Given the description of an element on the screen output the (x, y) to click on. 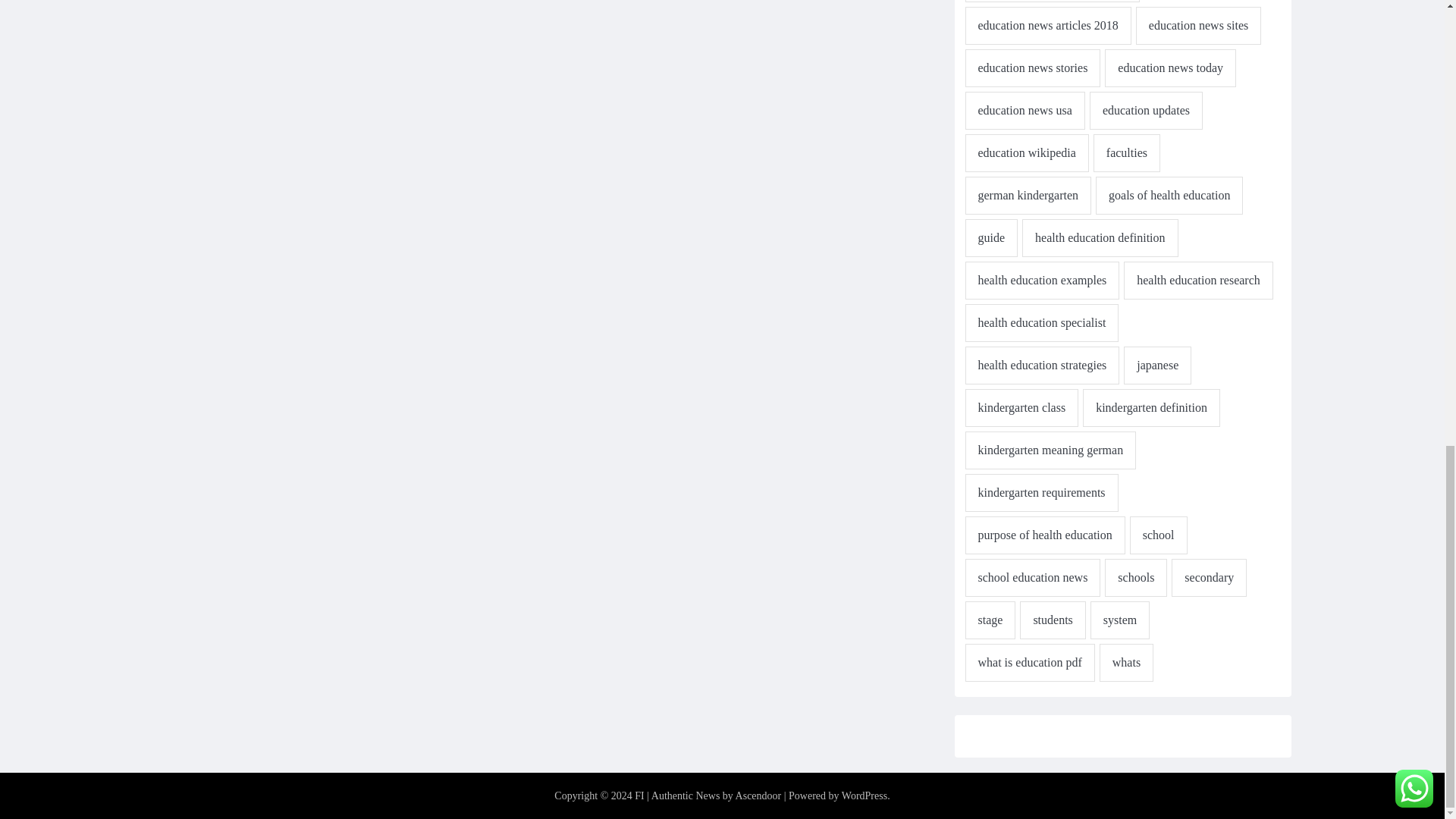
education kindergarten teacher (1051, 1)
education news usa (1023, 110)
education news articles 2018 (1047, 25)
education news sites (1198, 25)
education news today (1170, 67)
education news stories (1031, 67)
